Given the description of an element on the screen output the (x, y) to click on. 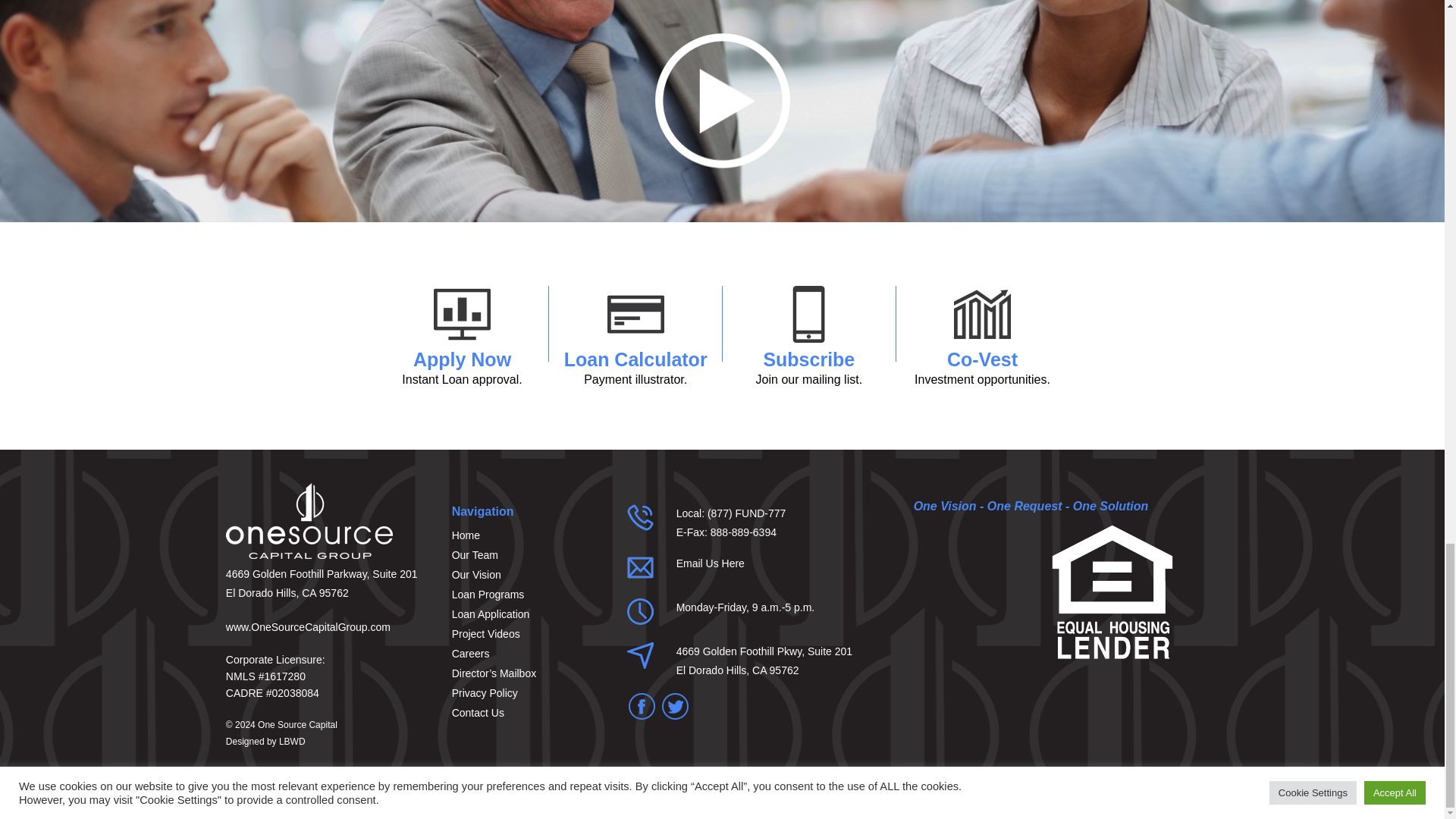
Loan Application (635, 361)
Loan Programs (982, 361)
Our Team (527, 614)
Our Vision (808, 361)
Careers (527, 594)
LBWD (527, 555)
One Source Capital (527, 574)
www.OneSourceCapitalGroup.com (527, 653)
Contact Us (292, 741)
Privacy Policy (462, 361)
Email Us Here (297, 724)
